Given the description of an element on the screen output the (x, y) to click on. 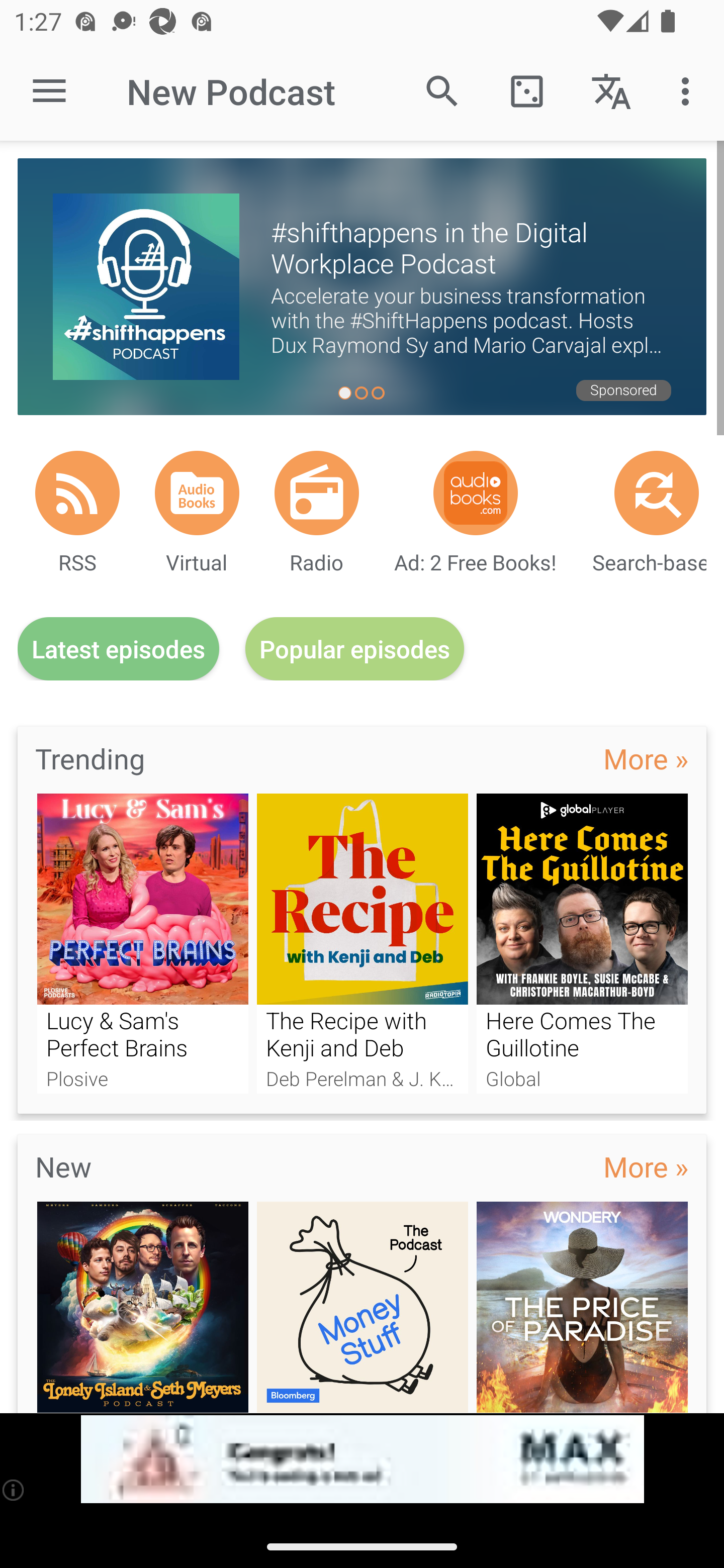
Open navigation sidebar (49, 91)
Search (442, 90)
Random pick (526, 90)
Podcast languages (611, 90)
More options (688, 90)
RSS (77, 492)
Virtual (196, 492)
Radio (316, 492)
Search-based (656, 492)
Latest episodes (118, 648)
Popular episodes (354, 648)
More » (645, 757)
Lucy & Sam's Perfect Brains Plosive (142, 942)
Here Comes The Guillotine Global (581, 942)
More » (645, 1166)
The Lonely Island and Seth Meyers Podcast (142, 1306)
Money Stuff: The Podcast (362, 1306)
The Price of Paradise (581, 1306)
app-monetization (362, 1459)
(i) (14, 1489)
